Given the description of an element on the screen output the (x, y) to click on. 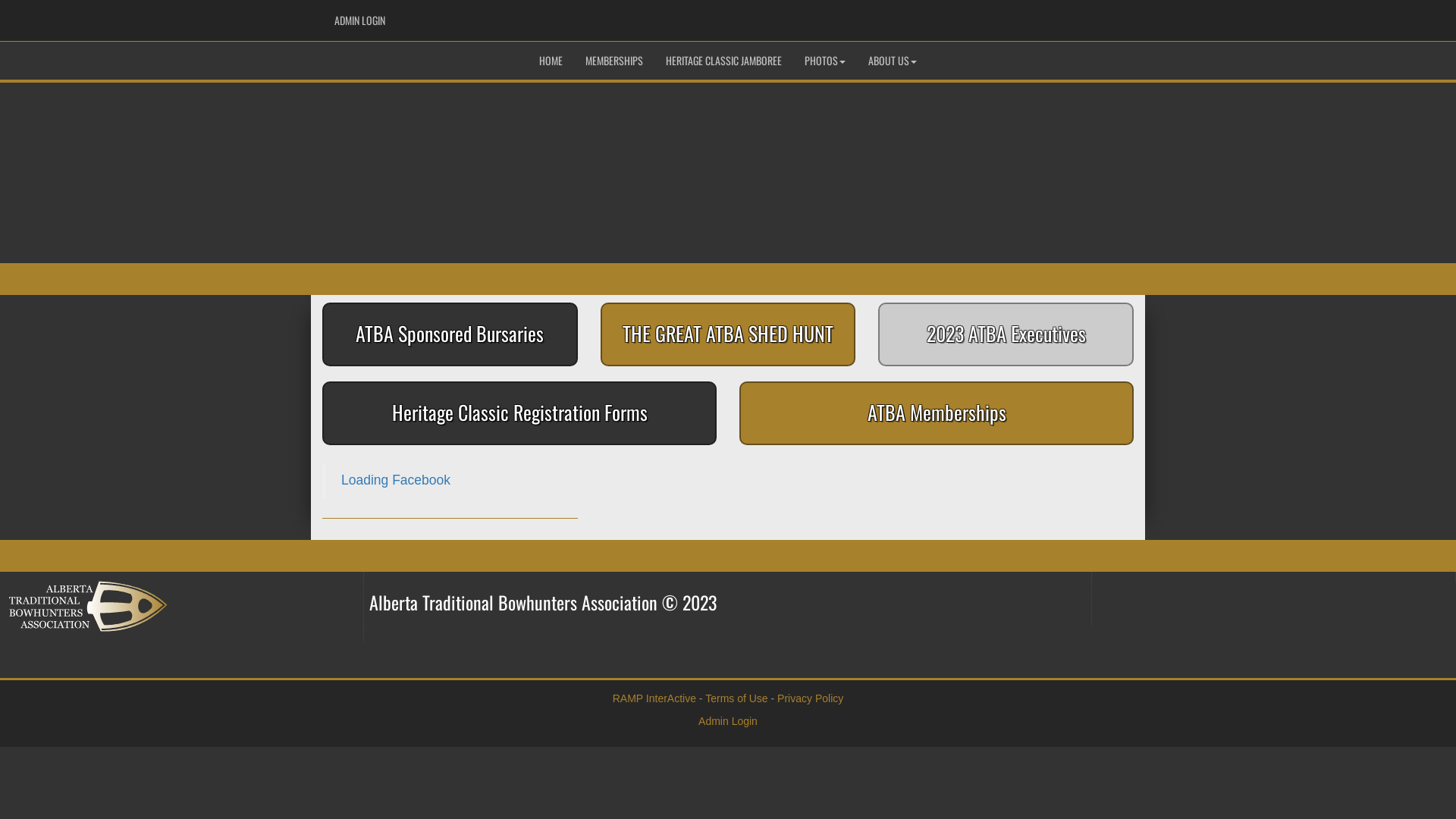
Heritage Classic Registration Forms Element type: text (519, 413)
Loading Facebook Element type: text (395, 479)
ABOUT US Element type: text (892, 60)
PHOTOS Element type: text (824, 60)
Privacy Policy Element type: text (810, 698)
Facebook Element type: text (1089, 15)
Terms of Use Element type: text (736, 698)
Admin Login Element type: text (727, 721)
THE GREAT ATBA SHED HUNT Element type: text (728, 334)
RAMP InterActive Element type: text (654, 698)
ATBA Memberships Element type: text (936, 413)
 ADMIN LOGIN
ADMIN LOGIN Element type: text (358, 20)
Instagram Element type: text (1112, 15)
HERITAGE CLASSIC JAMBOREE Element type: text (723, 60)
HOME Element type: text (550, 60)
MEMBERSHIPS Element type: text (614, 60)
ATBA Sponsored Bursaries Element type: text (449, 334)
2023 ATBA Executives Element type: text (1005, 334)
